Given the description of an element on the screen output the (x, y) to click on. 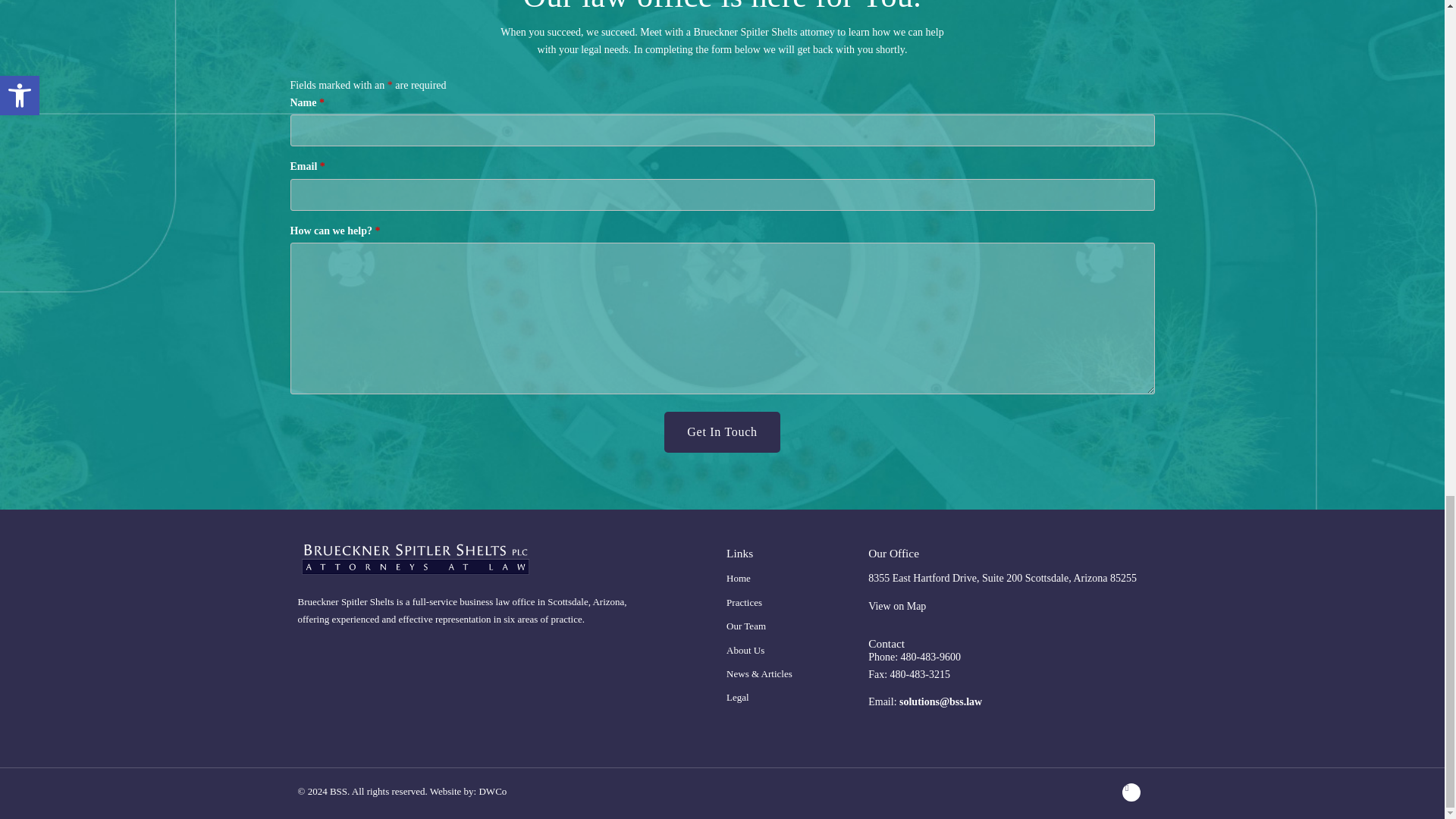
Get In Touch (720, 431)
